Given the description of an element on the screen output the (x, y) to click on. 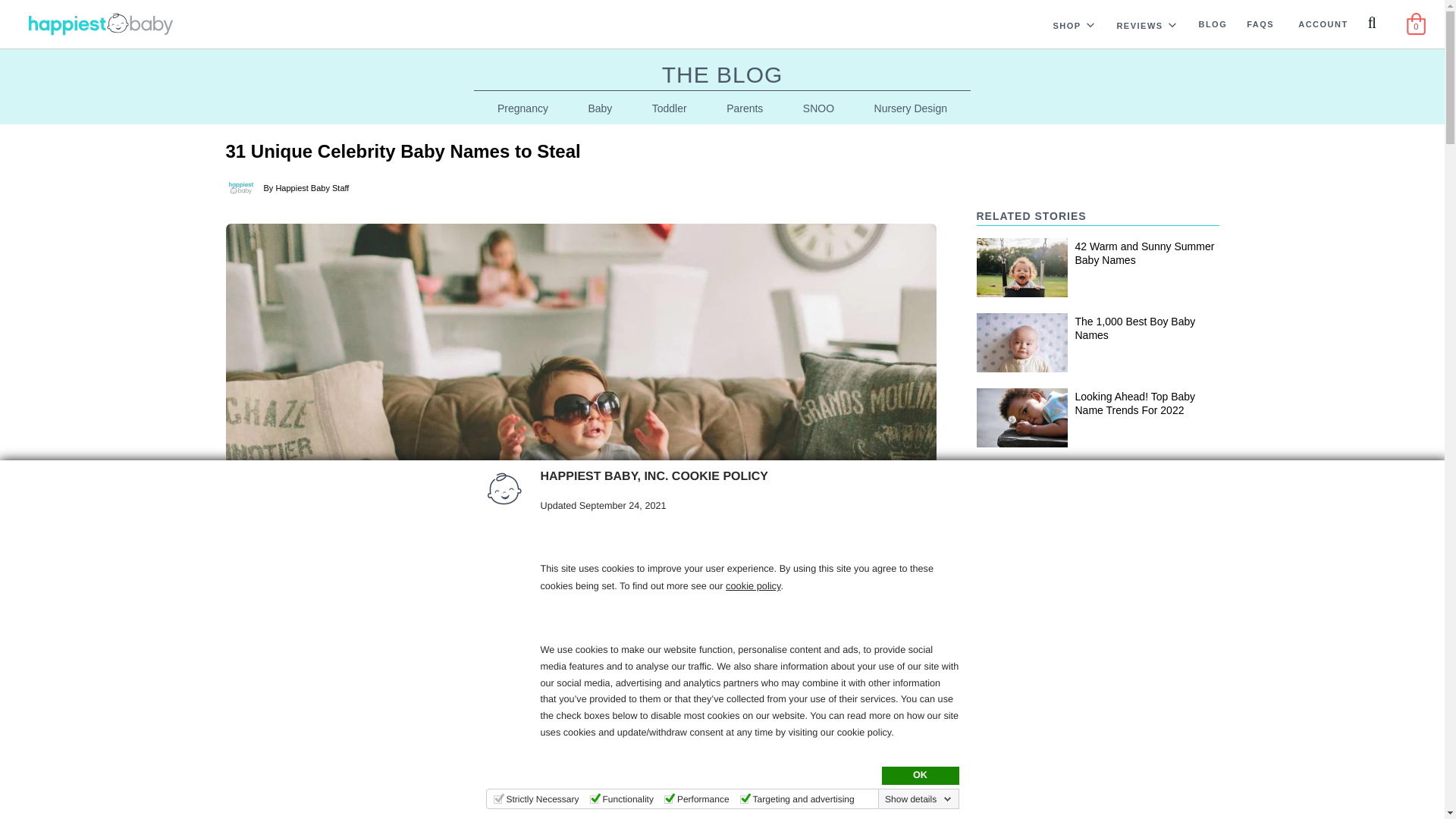
Show details (918, 799)
Expandable Navigation (1090, 24)
OK (919, 775)
cookie policy (752, 585)
Expandable Navigation (1172, 24)
